Given the description of an element on the screen output the (x, y) to click on. 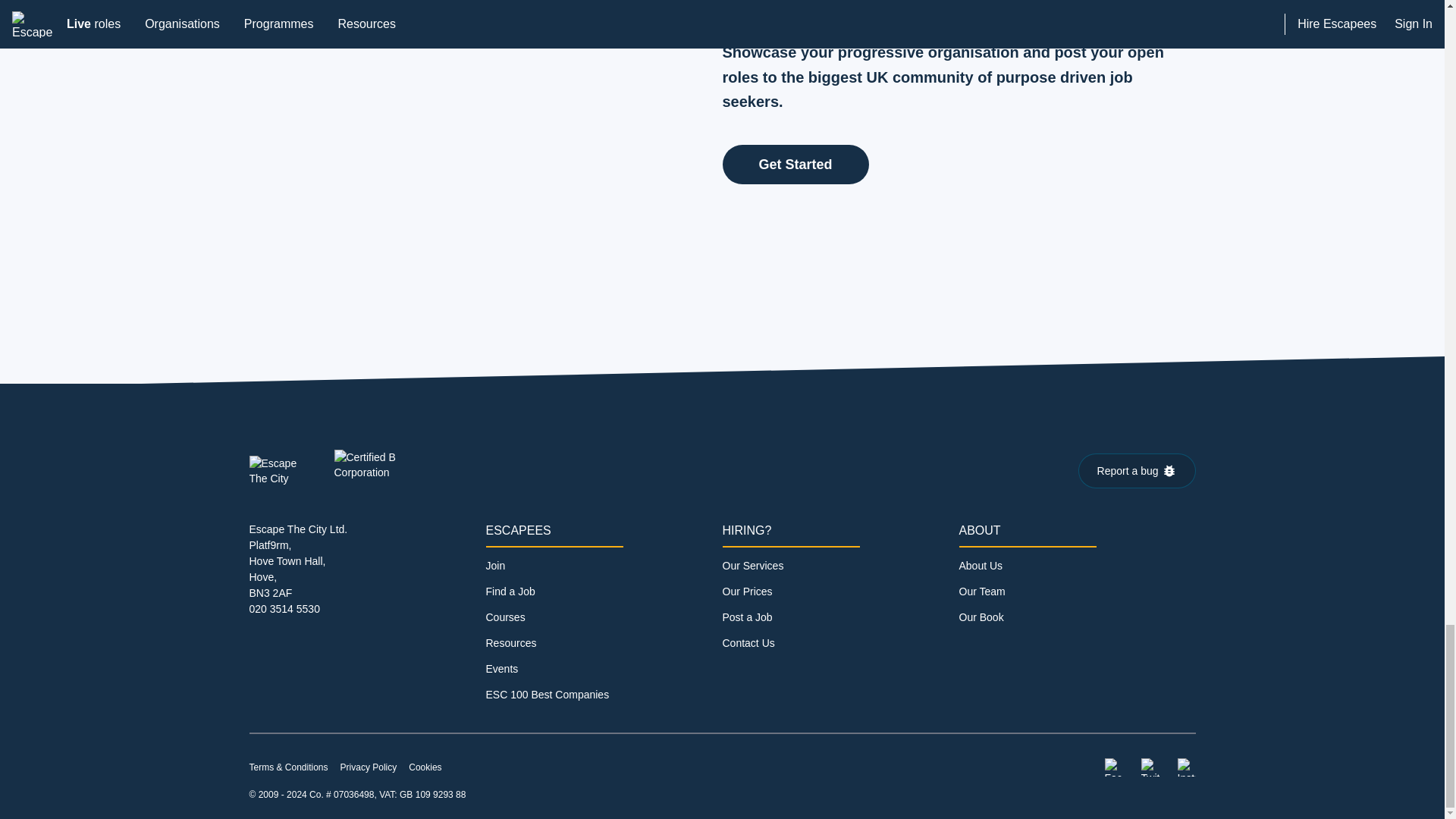
Get Started (794, 163)
Find a Job (509, 591)
ESC 100 Best Companies (546, 694)
Courses (504, 616)
Report a bug (1136, 470)
020 3514 5530 (283, 608)
Events (501, 668)
Resources (509, 643)
